Given the description of an element on the screen output the (x, y) to click on. 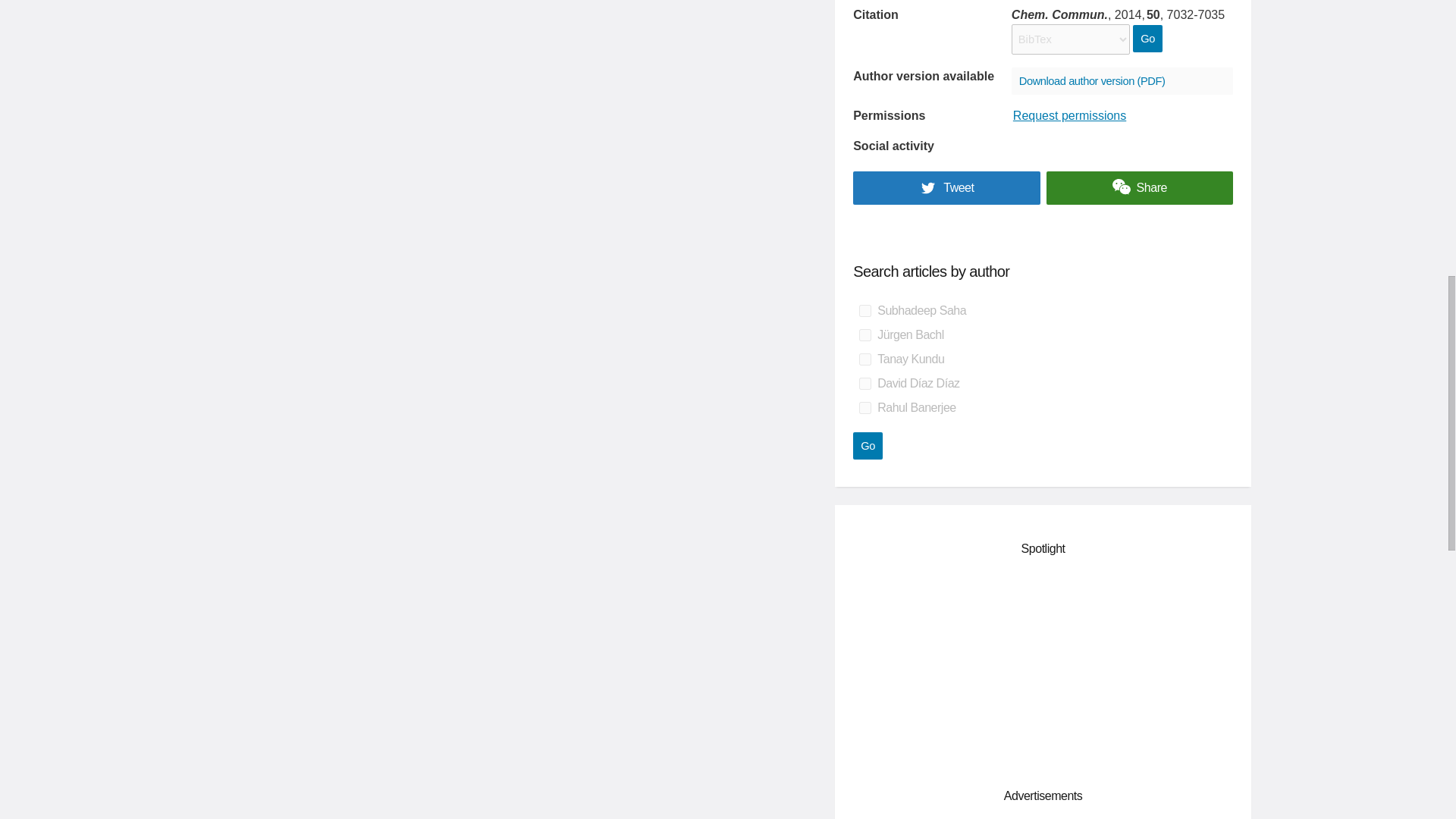
3rd party ad content (1043, 669)
on (864, 408)
Go (1146, 38)
Go (867, 445)
Go (1146, 38)
Go (867, 445)
on (864, 310)
on (864, 335)
on (864, 358)
on (864, 383)
